Given the description of an element on the screen output the (x, y) to click on. 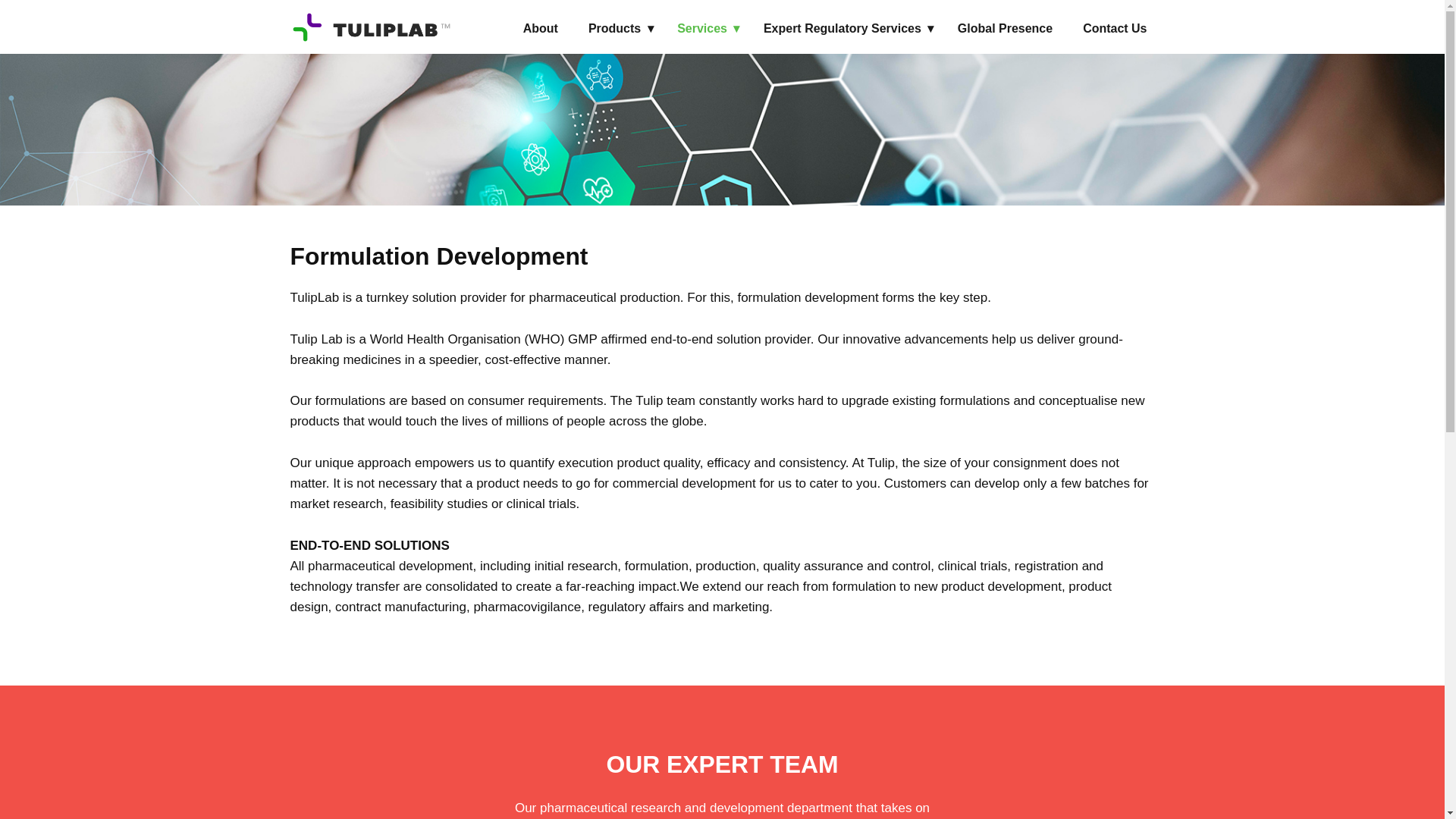
Expert Regulatory Services (844, 28)
Global Presence (1004, 28)
Home (370, 27)
About (540, 28)
Contact Us (1114, 28)
Products (616, 28)
Services (705, 28)
